Given the description of an element on the screen output the (x, y) to click on. 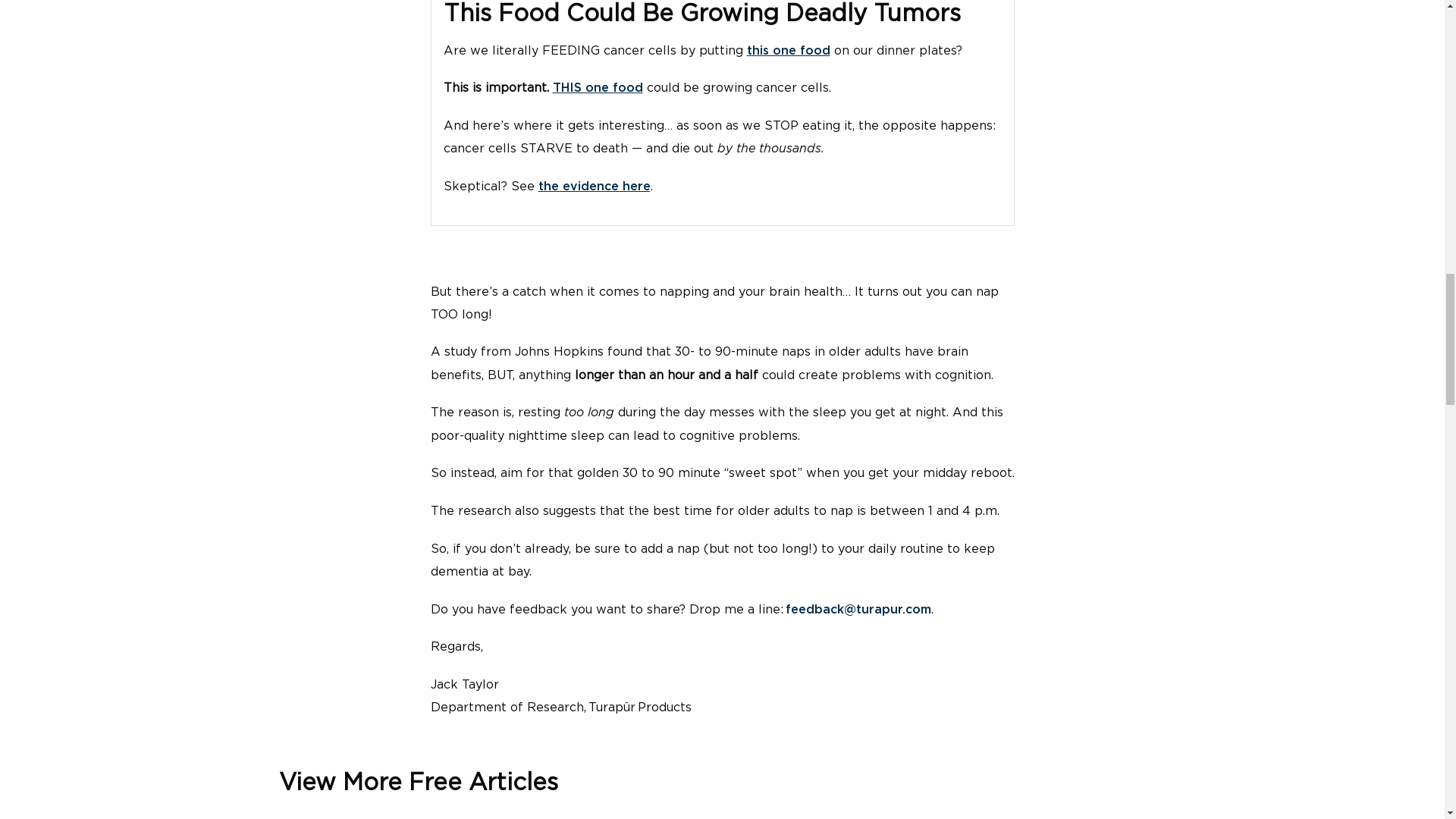
this one food (787, 50)
the evidence here (594, 186)
THIS one food (596, 87)
